Given the description of an element on the screen output the (x, y) to click on. 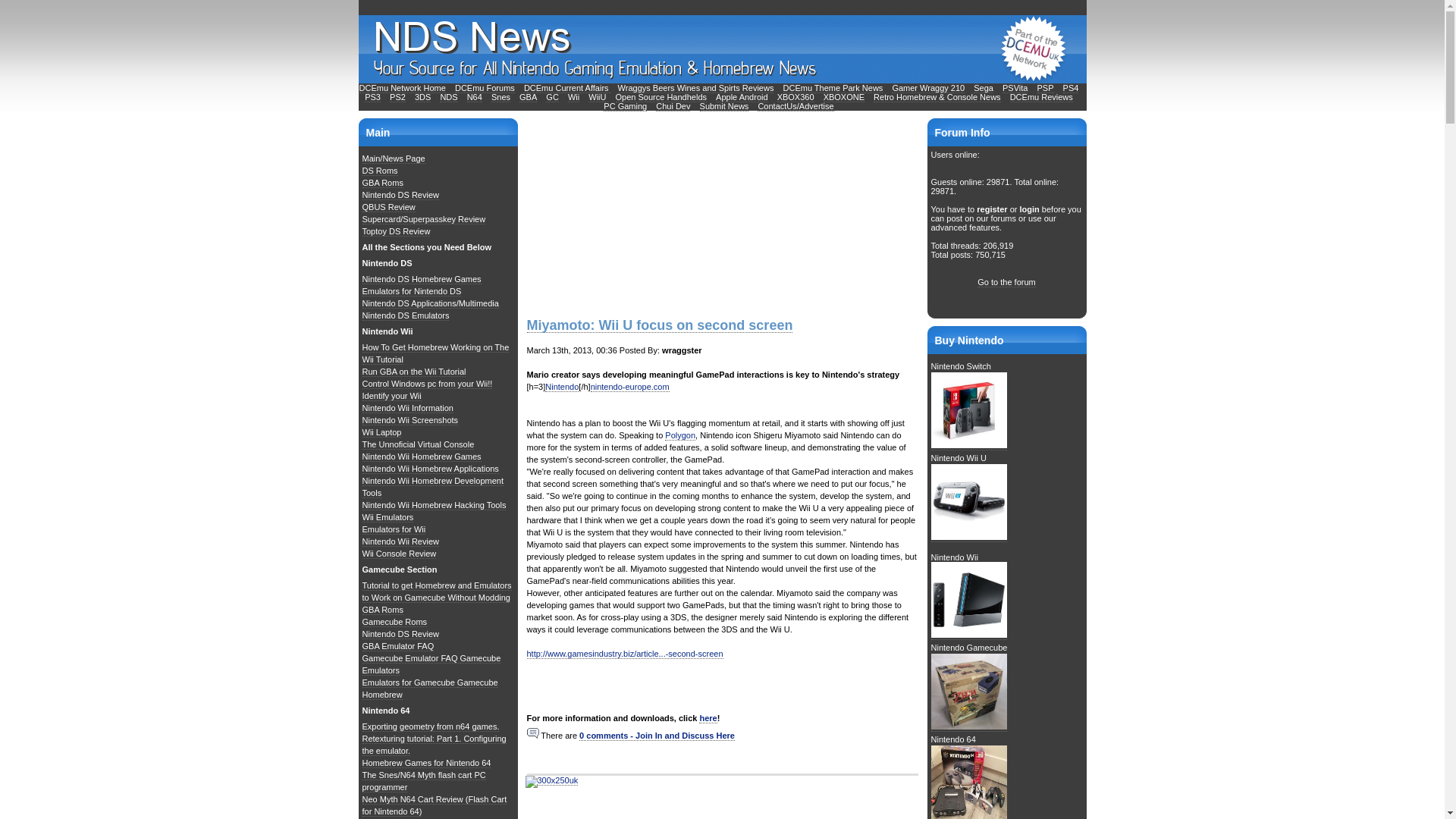
XBOXONE (844, 97)
PS4 (1070, 88)
Snes (501, 97)
PSVita (1015, 88)
N64 (474, 97)
Wii (573, 97)
Emulators for Nintendo DS (411, 291)
XBOX360 (795, 97)
PC Gaming (625, 106)
Sega (983, 88)
